Given the description of an element on the screen output the (x, y) to click on. 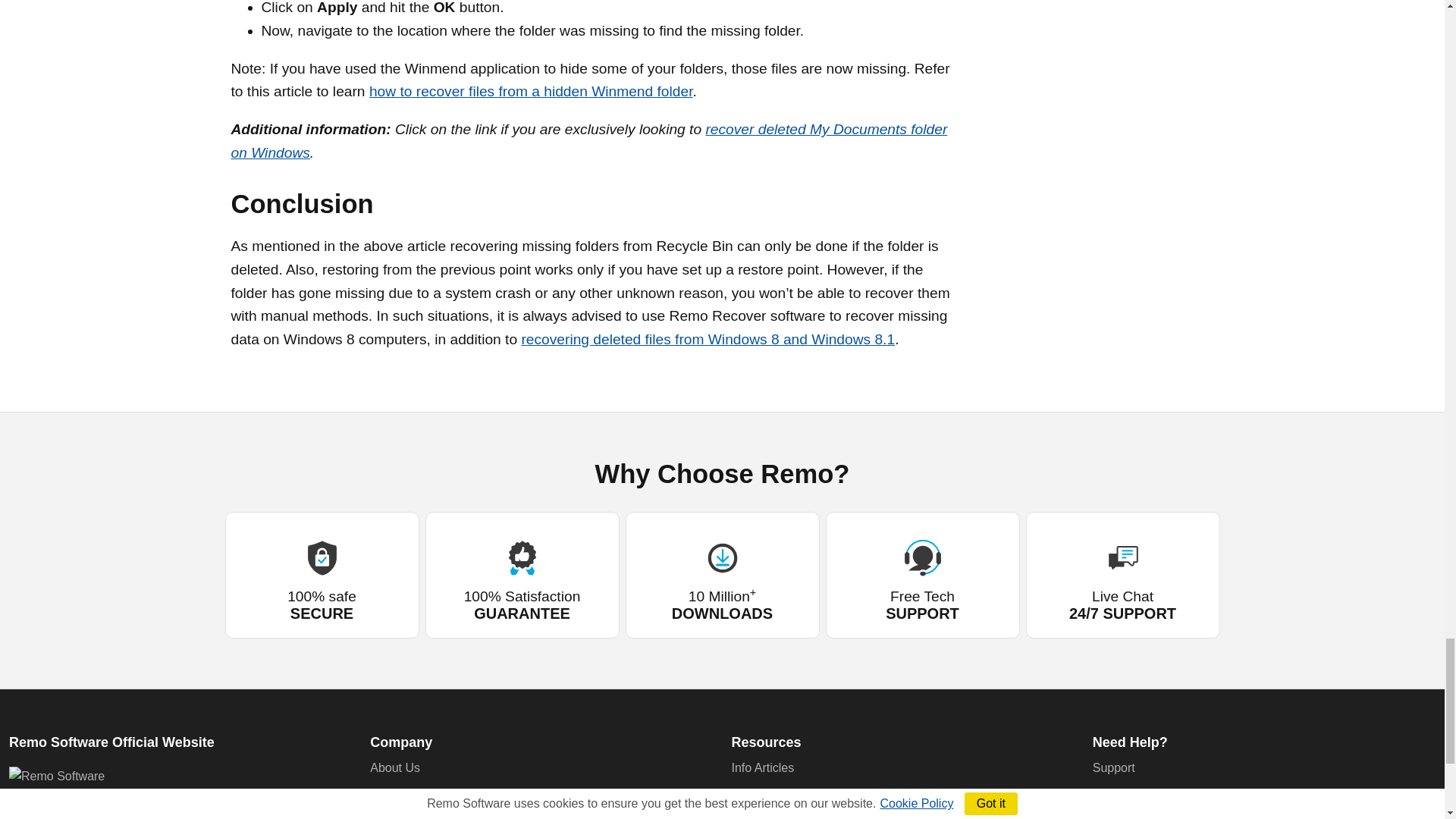
Media Recovery (774, 817)
File Recovery (767, 794)
how to recover files from a hidden Winmend folder (531, 91)
Resources (765, 742)
recover deleted My Documents folder on Windows (588, 140)
recovering deleted files from Windows 8 and Windows 8.1 (708, 339)
About Us (394, 767)
Info Articles (761, 767)
Reviews (391, 794)
Business Licenses (419, 817)
